Given the description of an element on the screen output the (x, y) to click on. 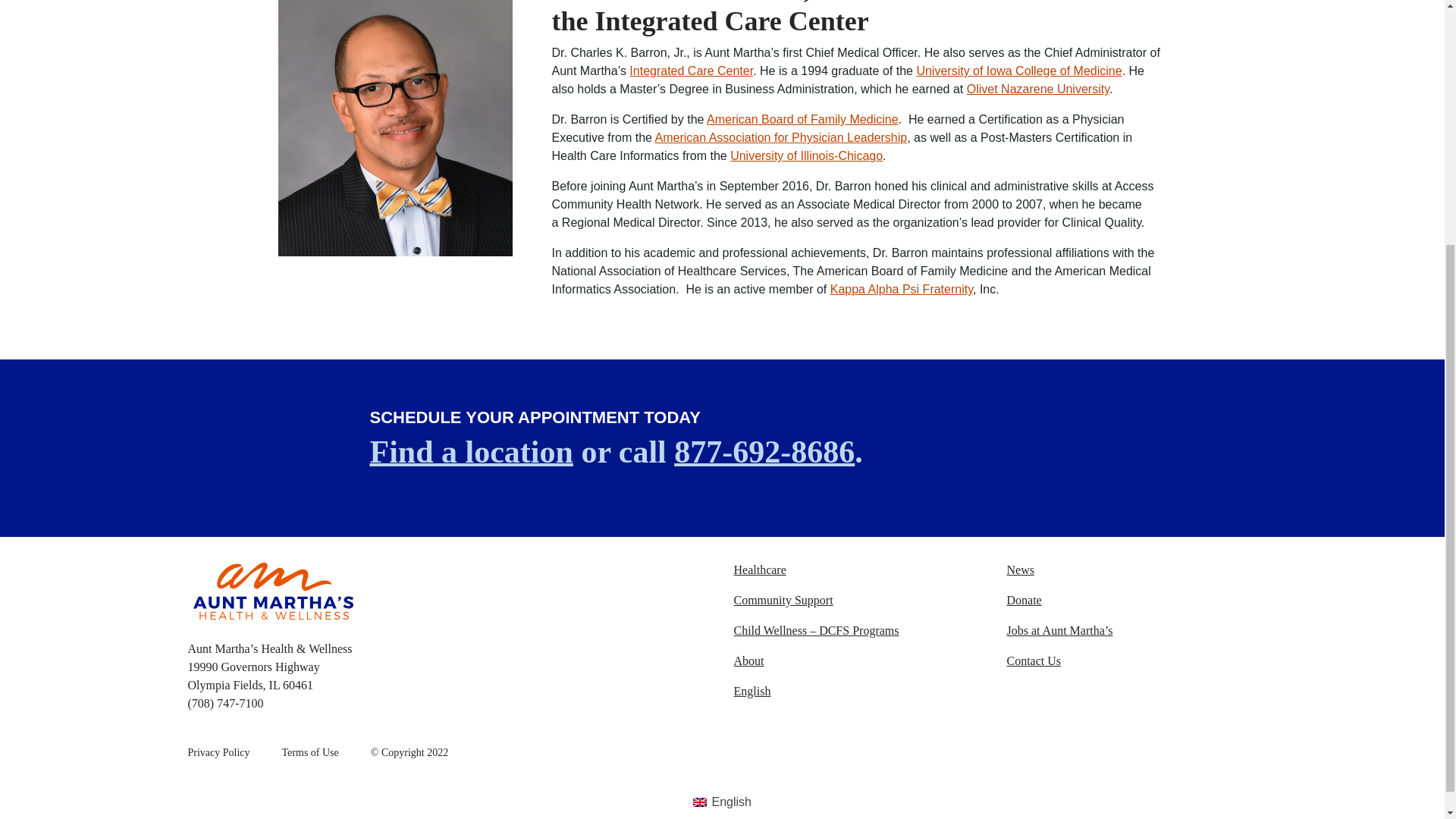
English (858, 691)
